Given the description of an element on the screen output the (x, y) to click on. 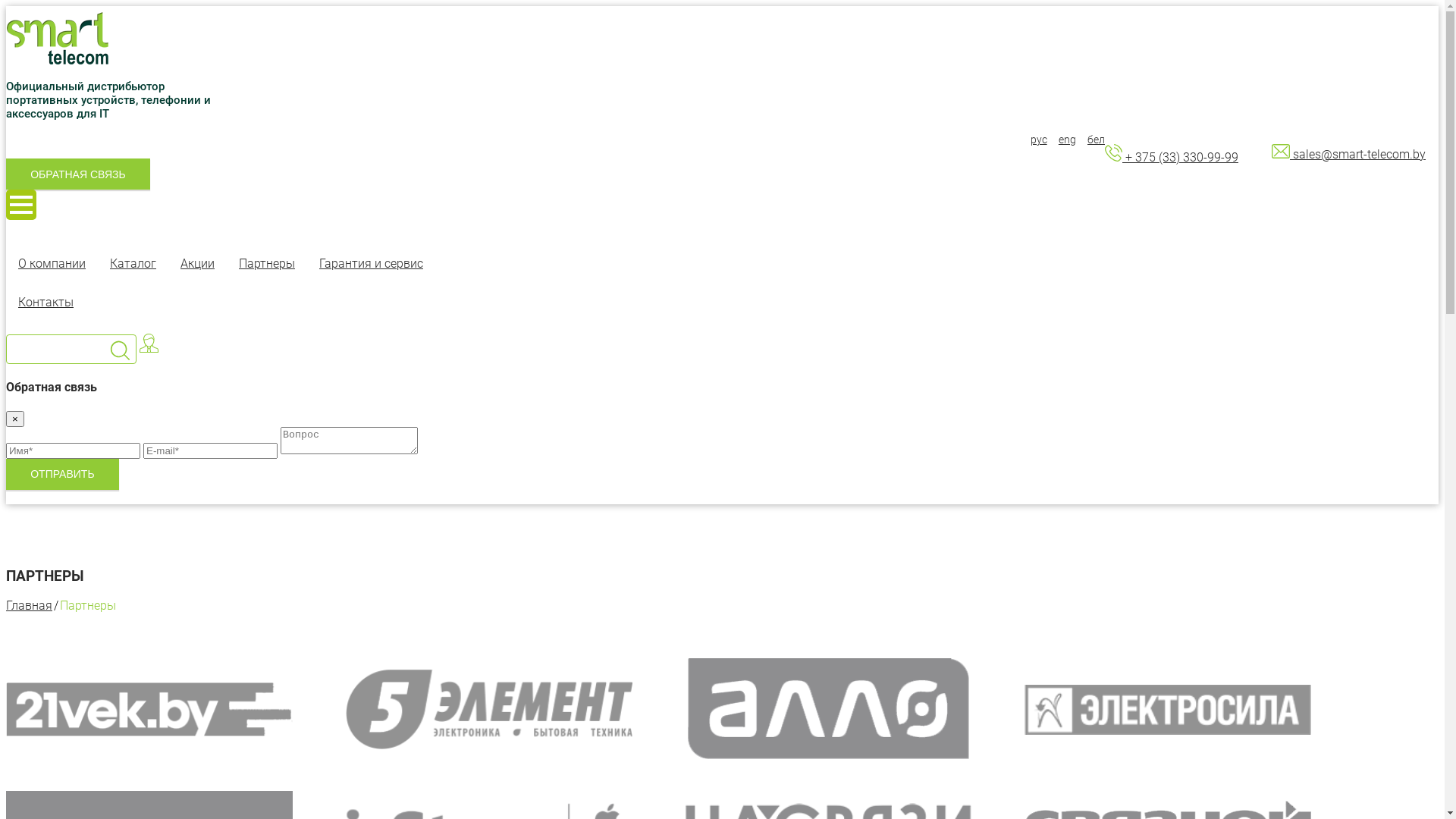
sales@smart-telecom.by Element type: text (1348, 154)
eng Element type: text (1063, 139)
# Element type: hover (57, 38)
+ 375 (33) 330-99-99 Element type: text (1171, 157)
